Given the description of an element on the screen output the (x, y) to click on. 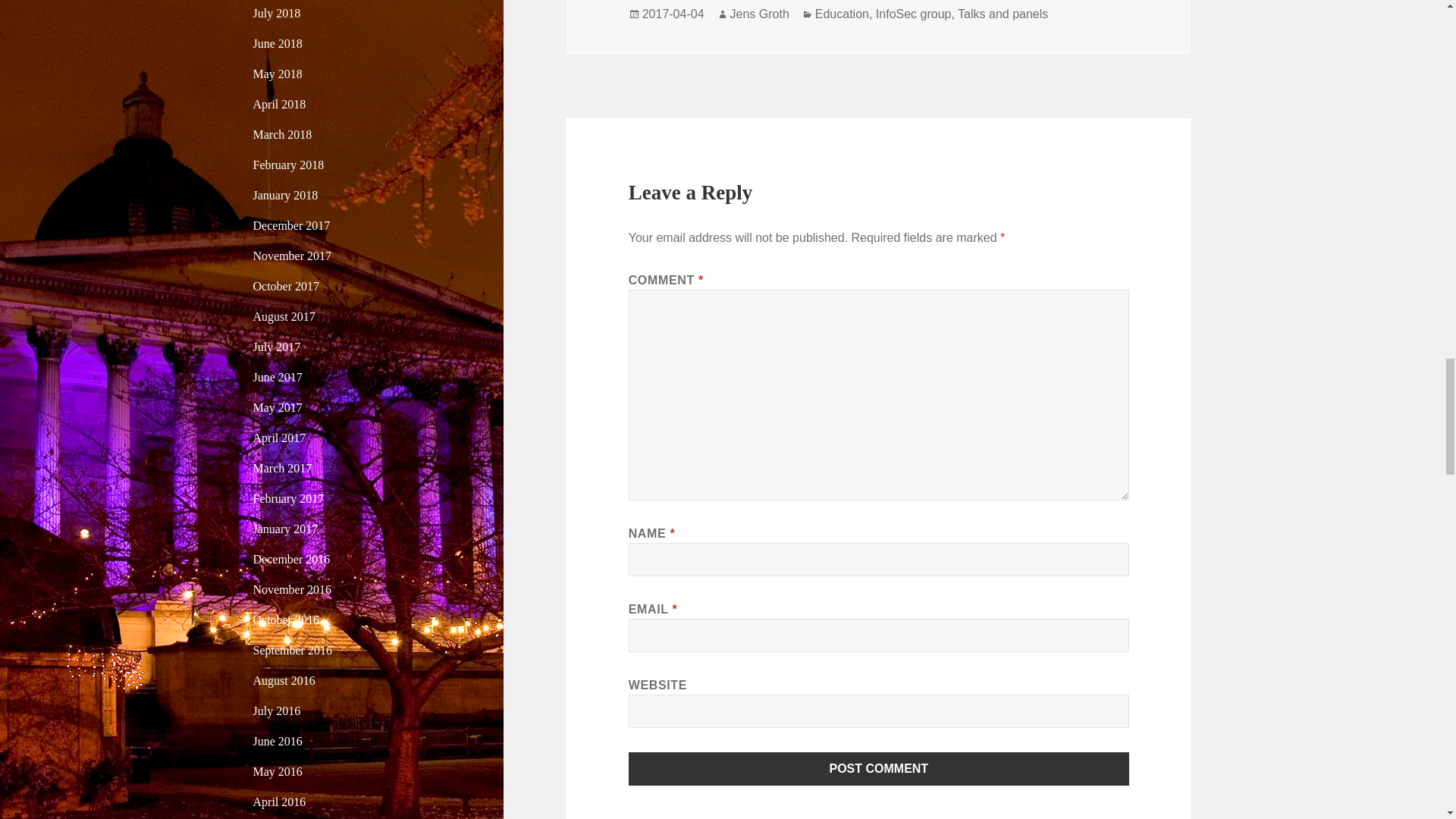
Post Comment (878, 768)
Posts by Jens Groth (759, 14)
